Given the description of an element on the screen output the (x, y) to click on. 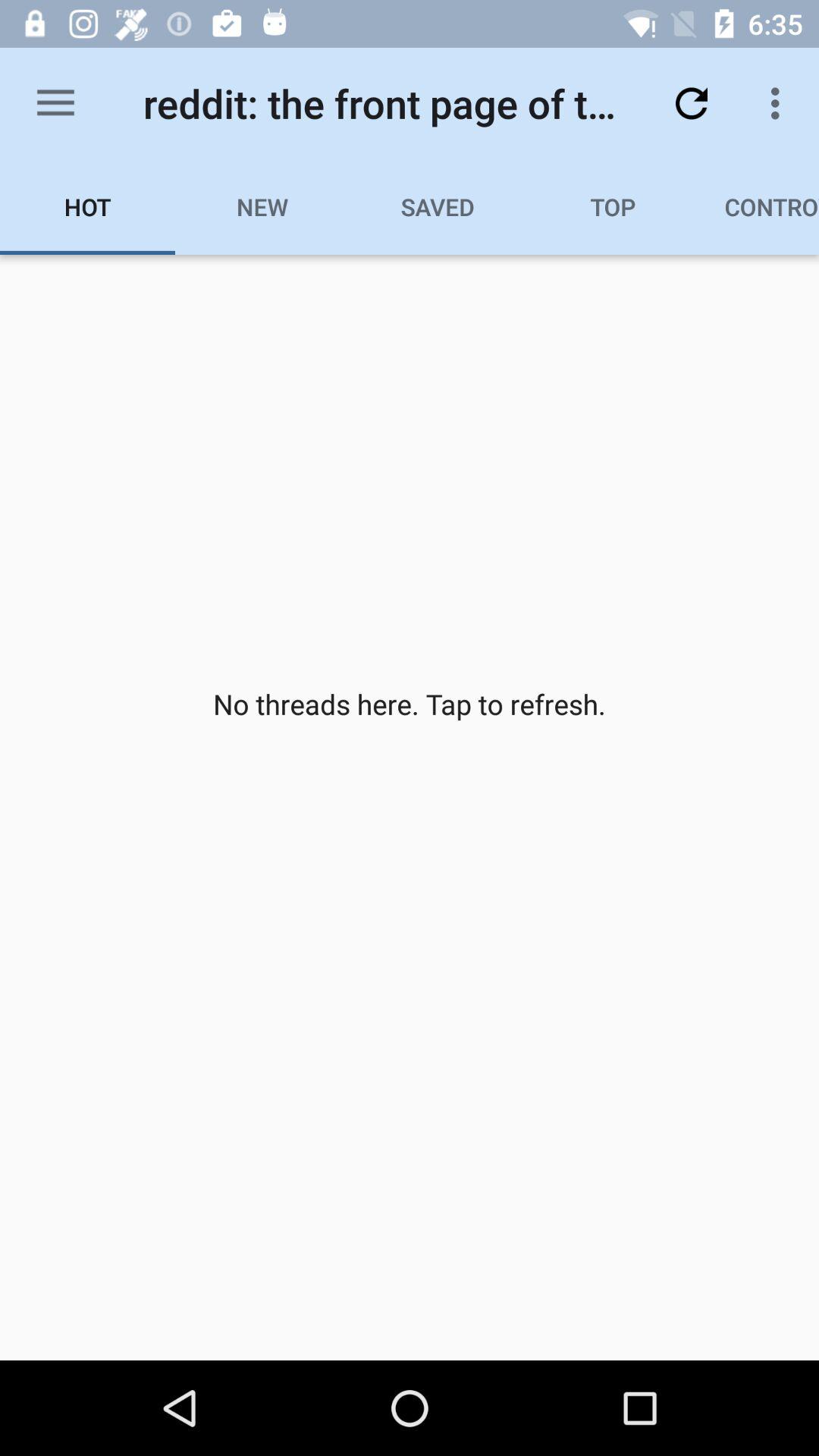
press icon above controversial icon (779, 103)
